Given the description of an element on the screen output the (x, y) to click on. 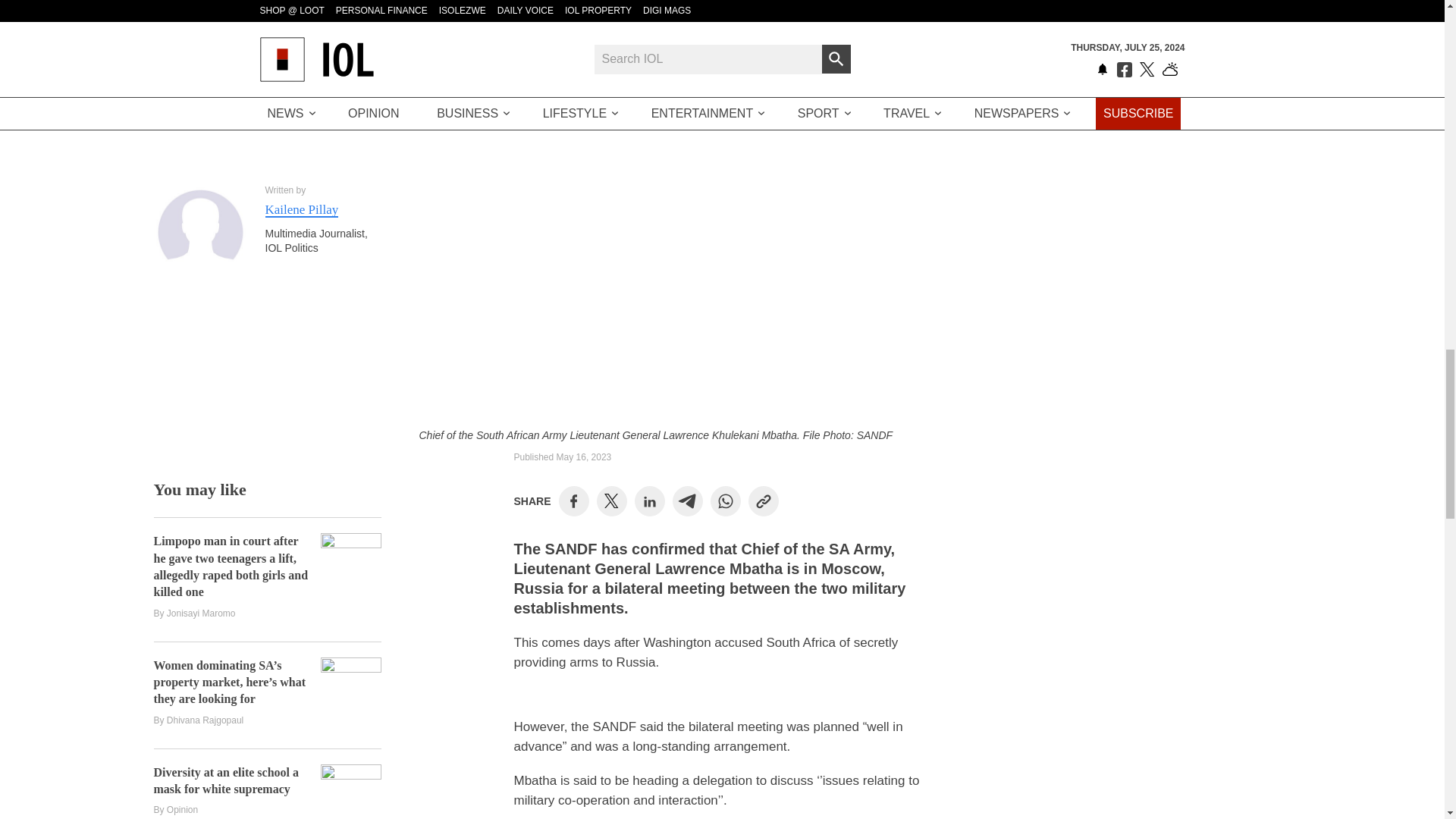
Share on Twitter (611, 500)
Share on Telegram (686, 500)
Copy to Clipboard (763, 500)
Share on WhatsApp (725, 500)
Share on LinkedIn (648, 500)
Share on Facebook (573, 500)
